Given the description of an element on the screen output the (x, y) to click on. 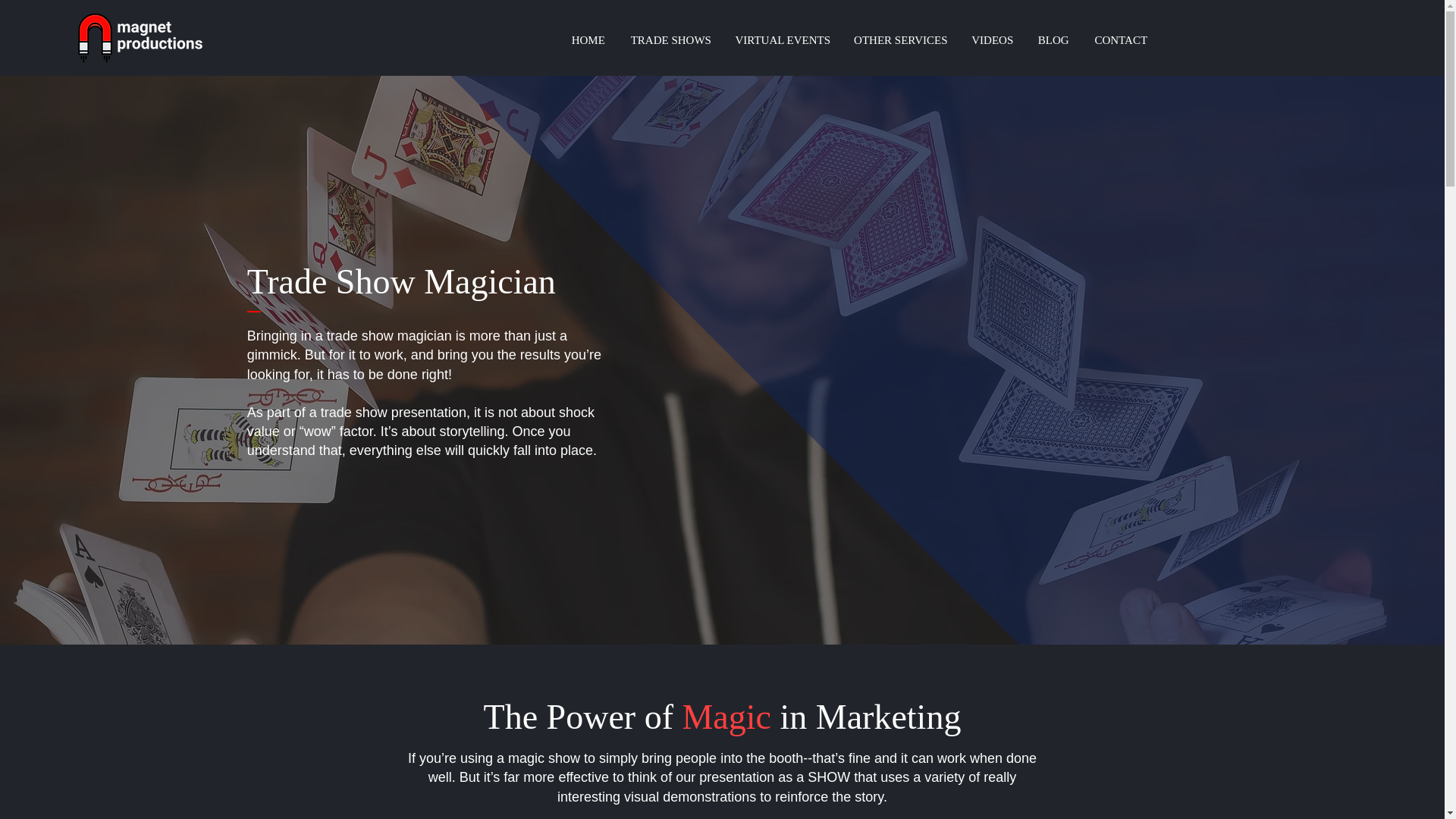
CONTACT (1120, 39)
VIRTUAL EVENTS (782, 39)
VIDEOS (992, 39)
HOME (587, 39)
BLOG (1053, 39)
OTHER SERVICES (900, 39)
